Given the description of an element on the screen output the (x, y) to click on. 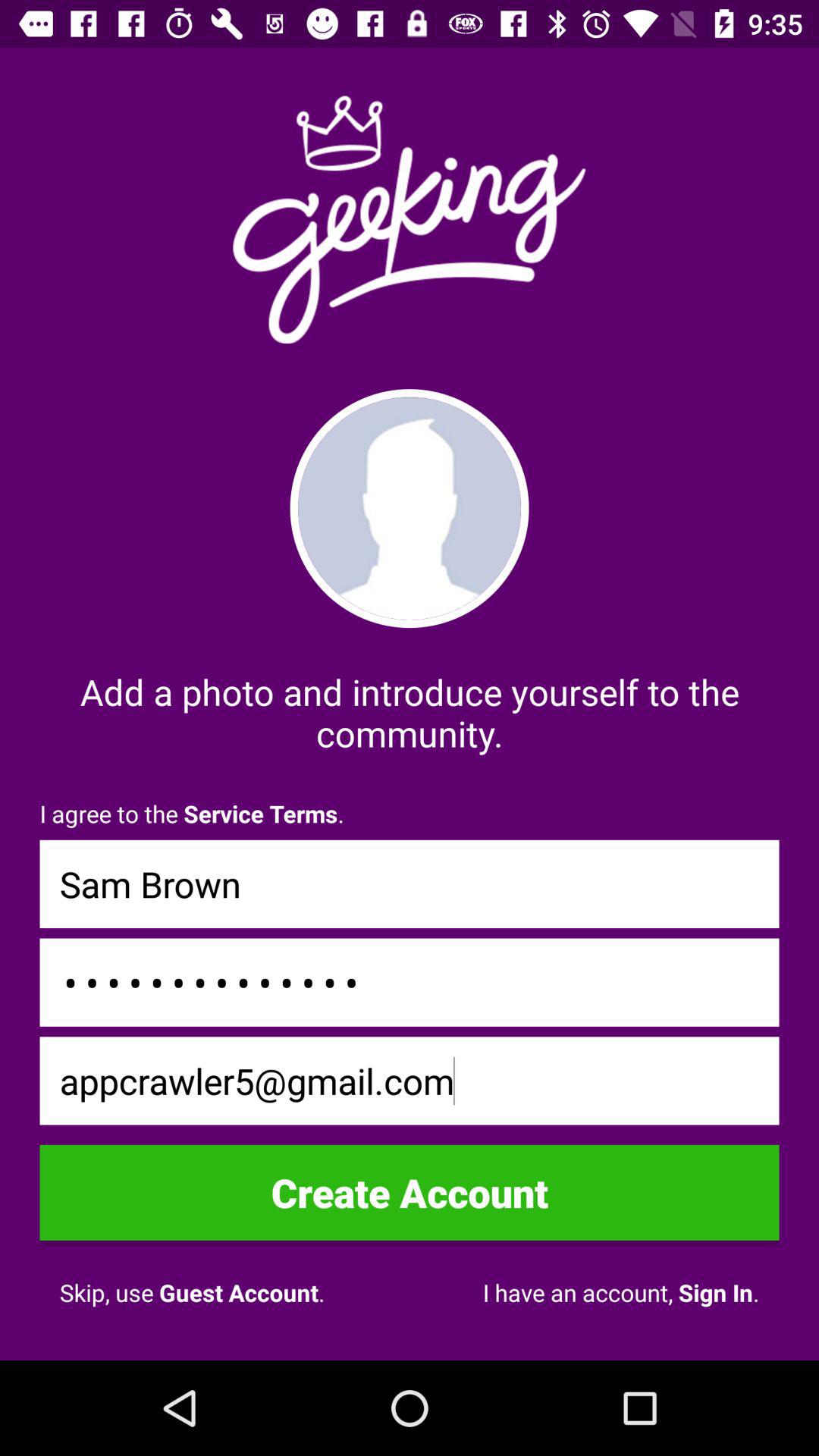
add self photo (409, 508)
